Given the description of an element on the screen output the (x, y) to click on. 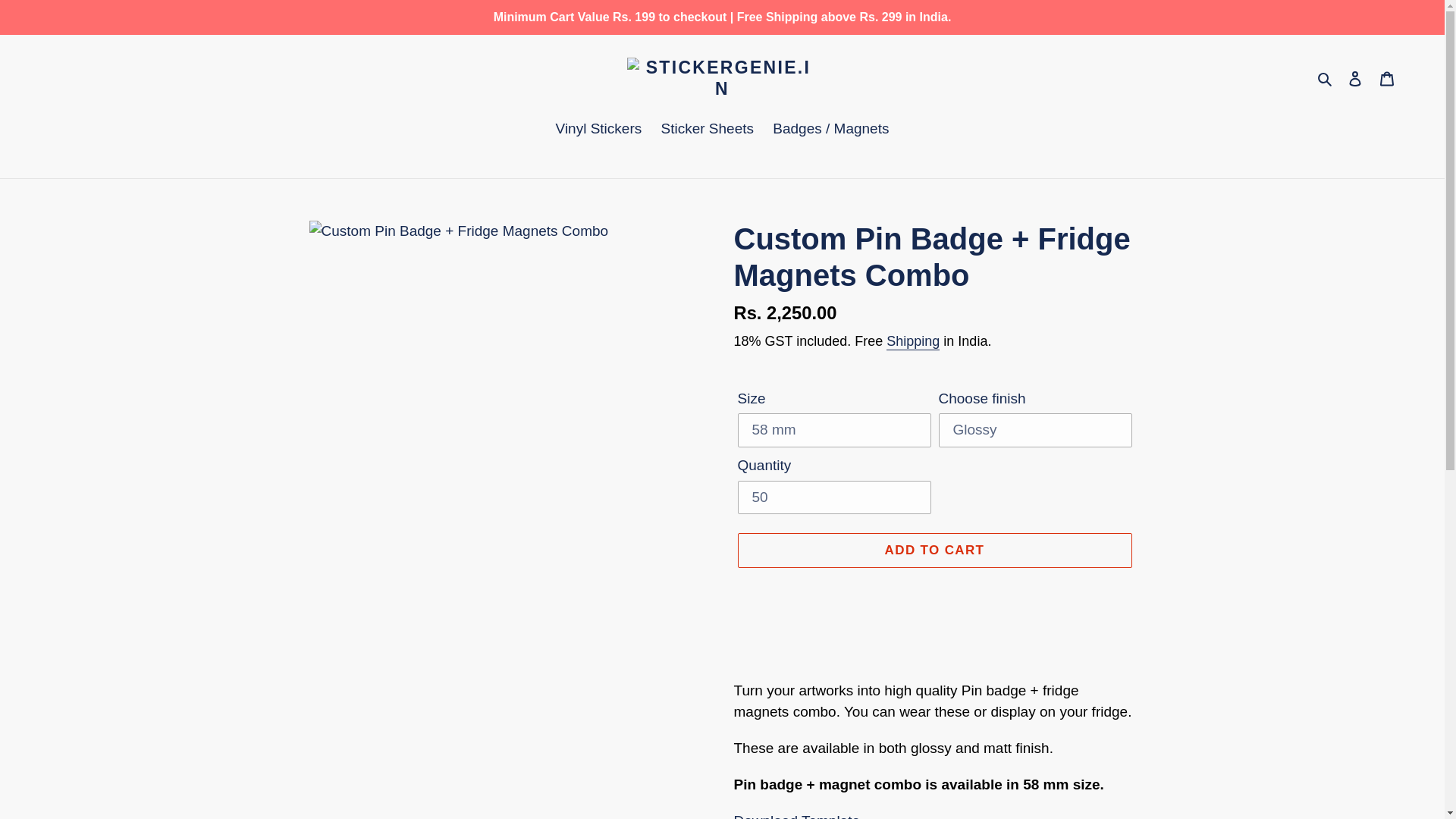
Search (1326, 78)
ADD TO CART (933, 550)
Download Template (796, 816)
Sticker Sheets (707, 129)
Vinyl Stickers (598, 129)
Shipping (912, 341)
Custom fridge magnet template (796, 816)
